Given the description of an element on the screen output the (x, y) to click on. 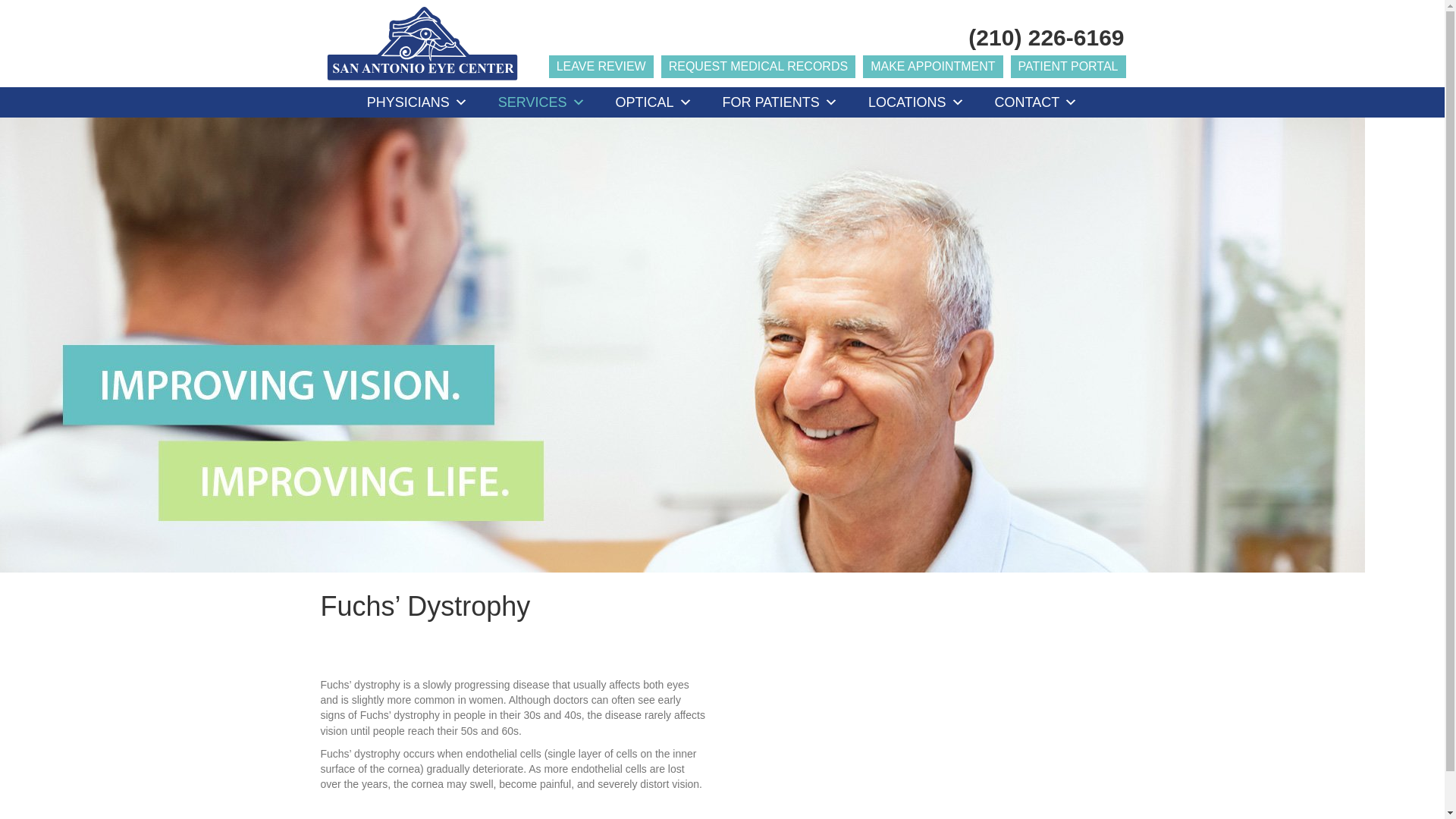
SERVICES (541, 101)
REQUEST MEDICAL RECORDS (758, 66)
MAKE APPOINTMENT (932, 66)
LEAVE REVIEW (601, 66)
PHYSICIANS (417, 101)
PATIENT PORTAL (1067, 66)
